Given the description of an element on the screen output the (x, y) to click on. 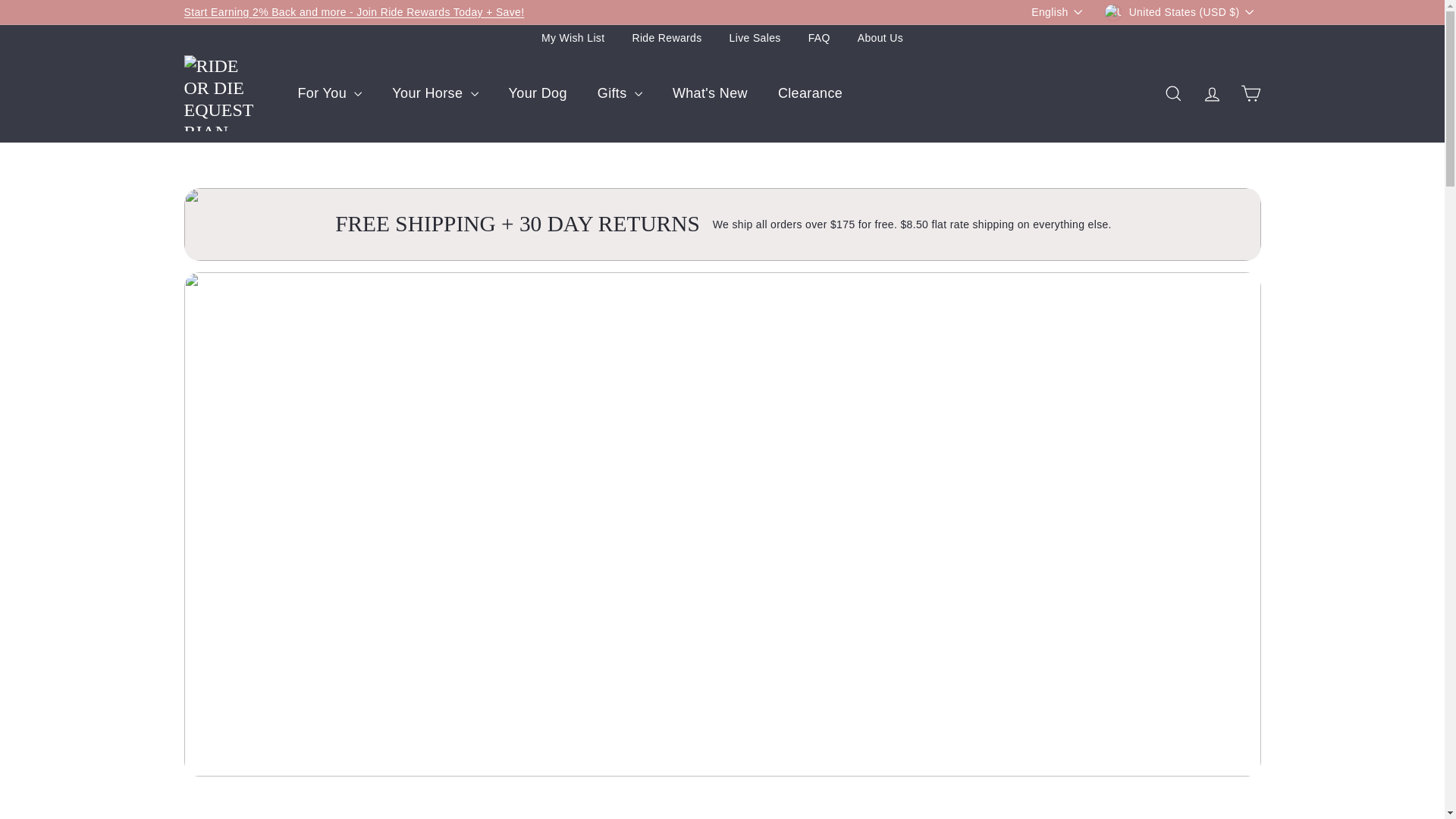
FAQ (818, 38)
Live Sales (754, 38)
Live Shopping (353, 11)
My Wish List (573, 38)
Ride Rewards (666, 38)
About Us (879, 38)
English (1059, 12)
